Given the description of an element on the screen output the (x, y) to click on. 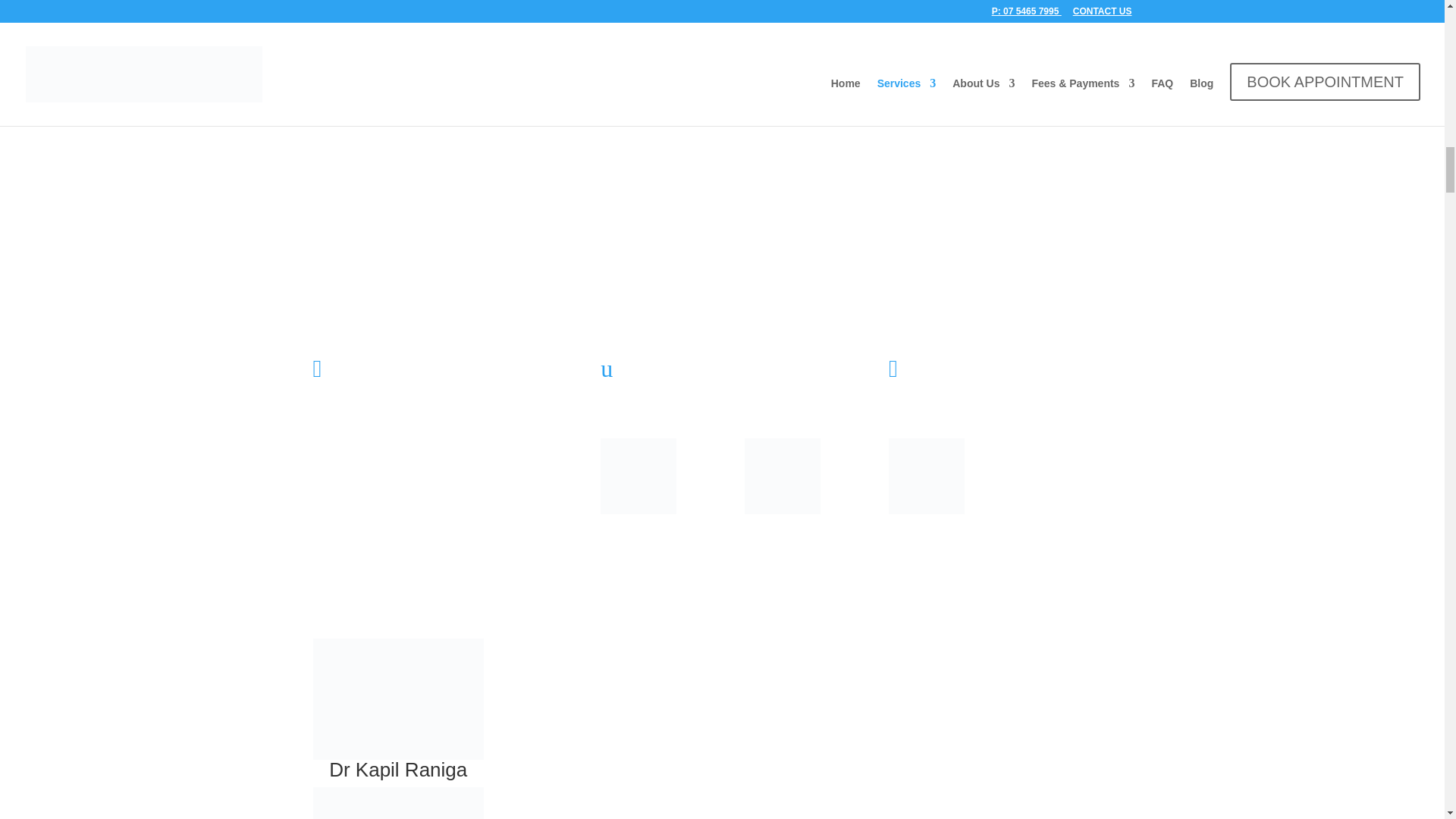
Dr Andrea Ho (398, 803)
Dr Kapil Raniga (398, 769)
Dr Kapil Raniga (398, 699)
